Given the description of an element on the screen output the (x, y) to click on. 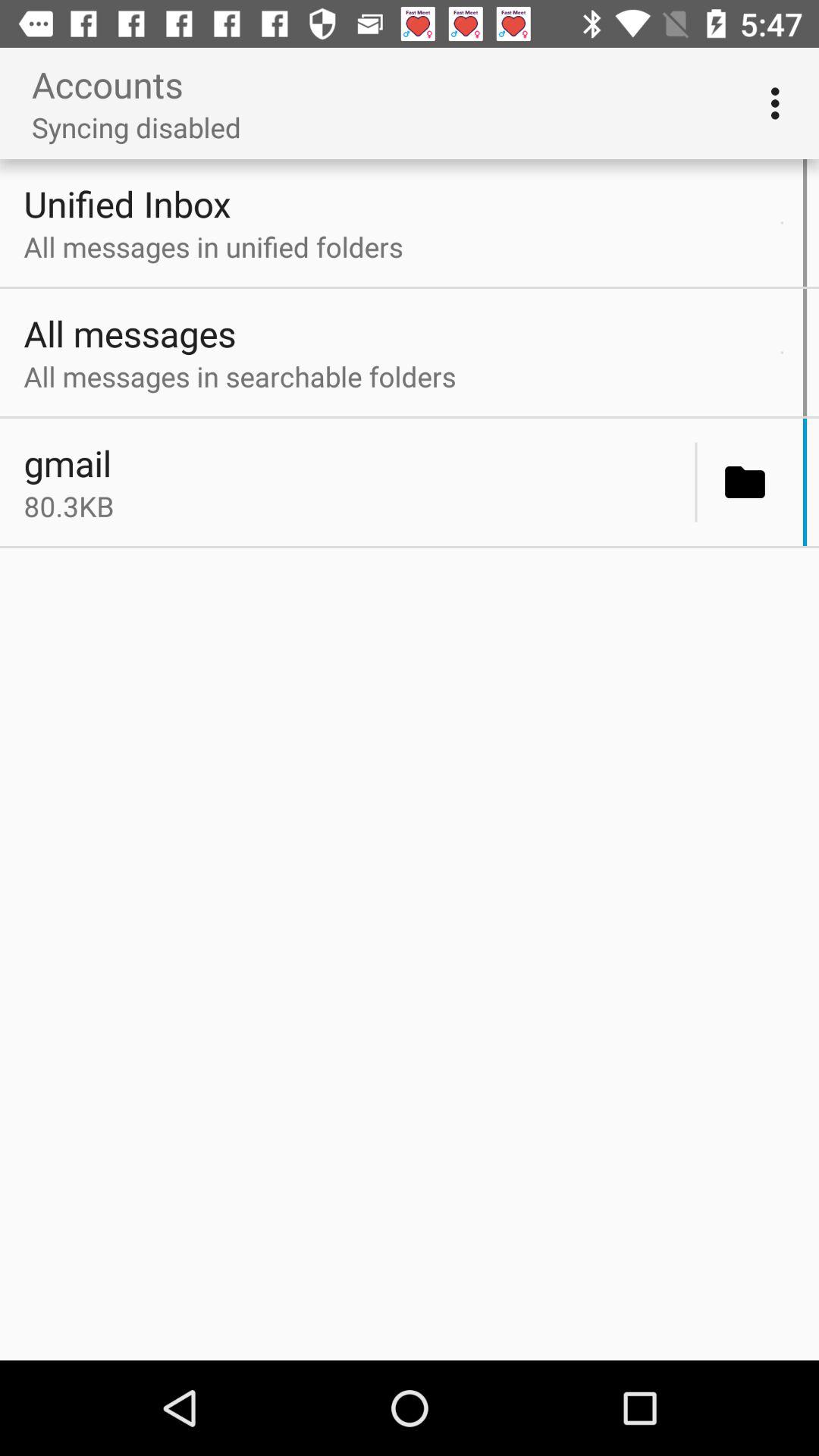
turn off the icon above the 80.3kb item (355, 463)
